Given the description of an element on the screen output the (x, y) to click on. 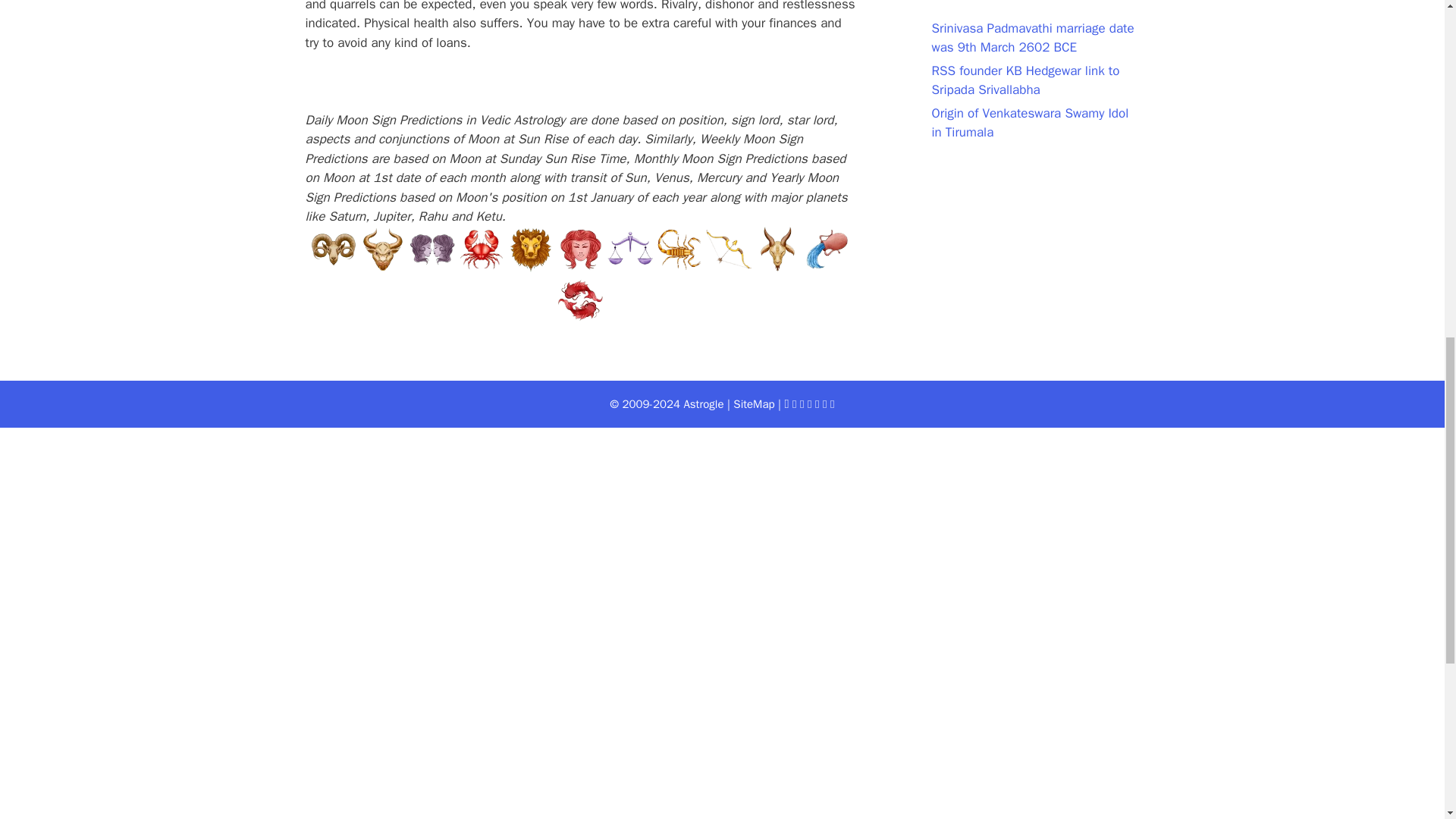
Aries  moon sign predictions (333, 248)
cancer  moon sign predictions (480, 248)
taurus  moon sign predictions (382, 248)
gemini  moon sign predictions (431, 248)
